Given the description of an element on the screen output the (x, y) to click on. 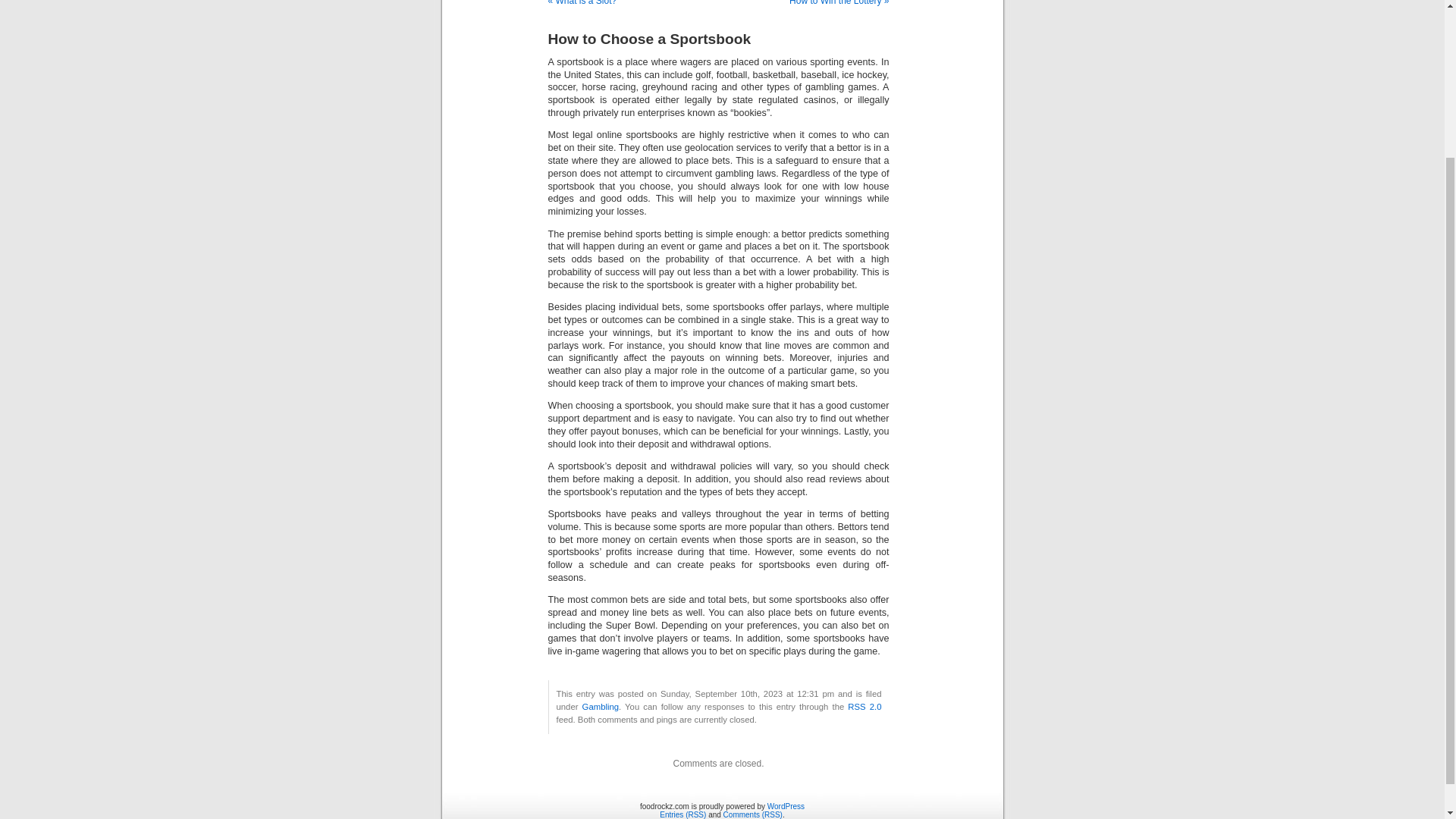
WordPress (786, 806)
Gambling (600, 706)
RSS 2.0 (863, 706)
